Given the description of an element on the screen output the (x, y) to click on. 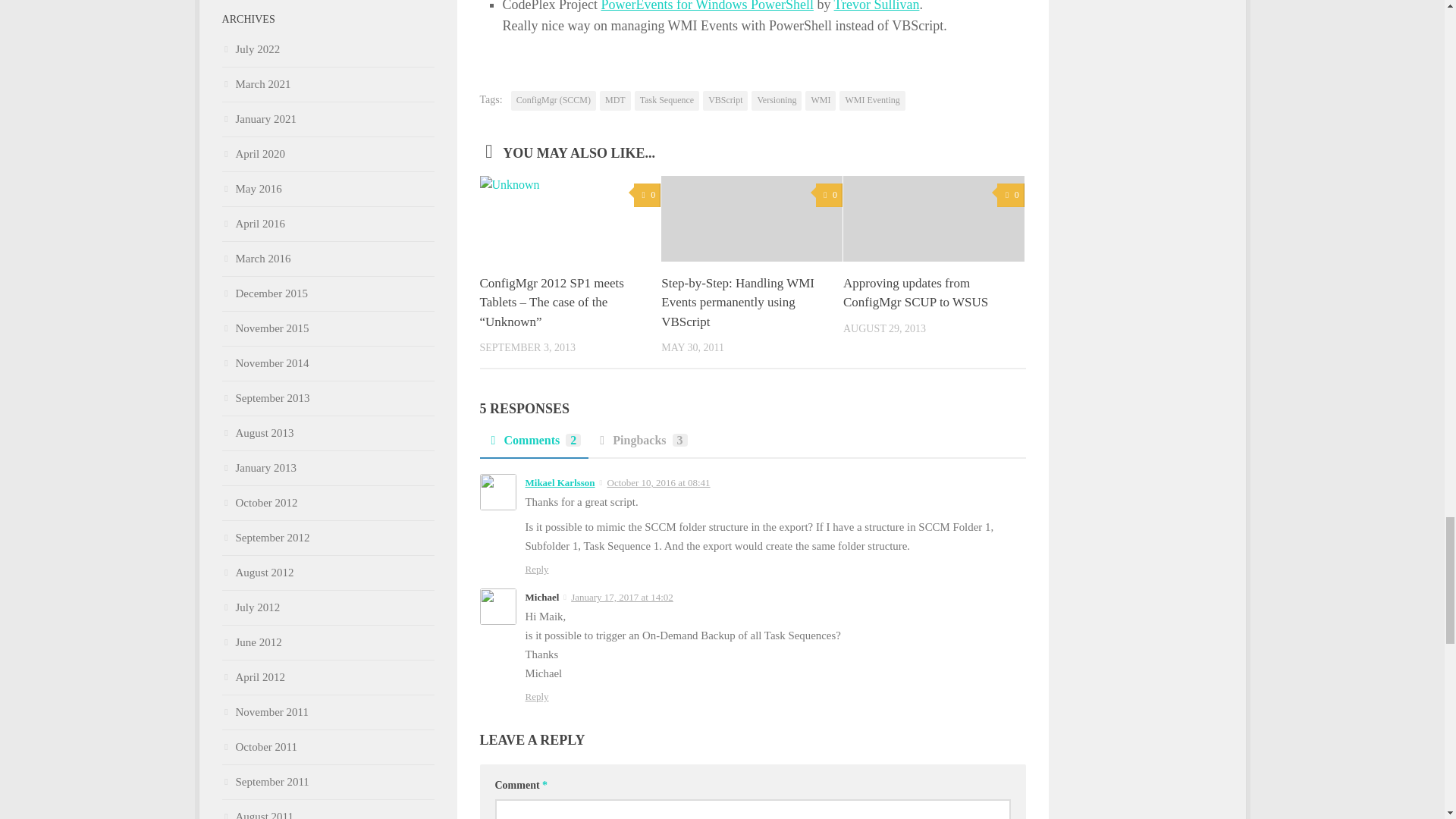
Task Sequence (666, 100)
Trevor Sullivan (877, 6)
PowerEvents for Windows PowerShell (705, 6)
Permalink to Approving updates from ConfigMgr SCUP to WSUS (915, 293)
MDT (614, 100)
